Given the description of an element on the screen output the (x, y) to click on. 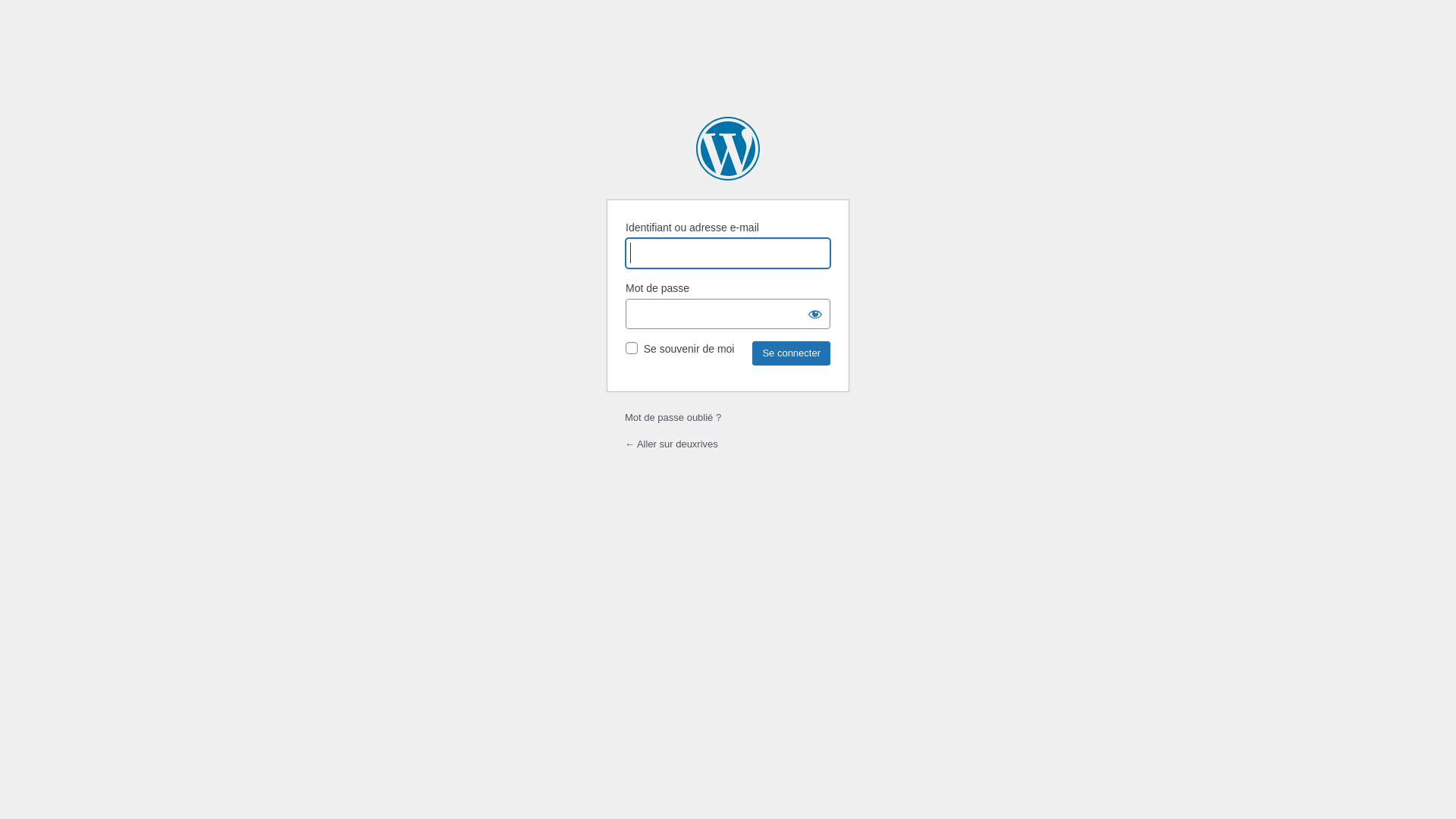
Se connecter Element type: text (791, 353)
